Given the description of an element on the screen output the (x, y) to click on. 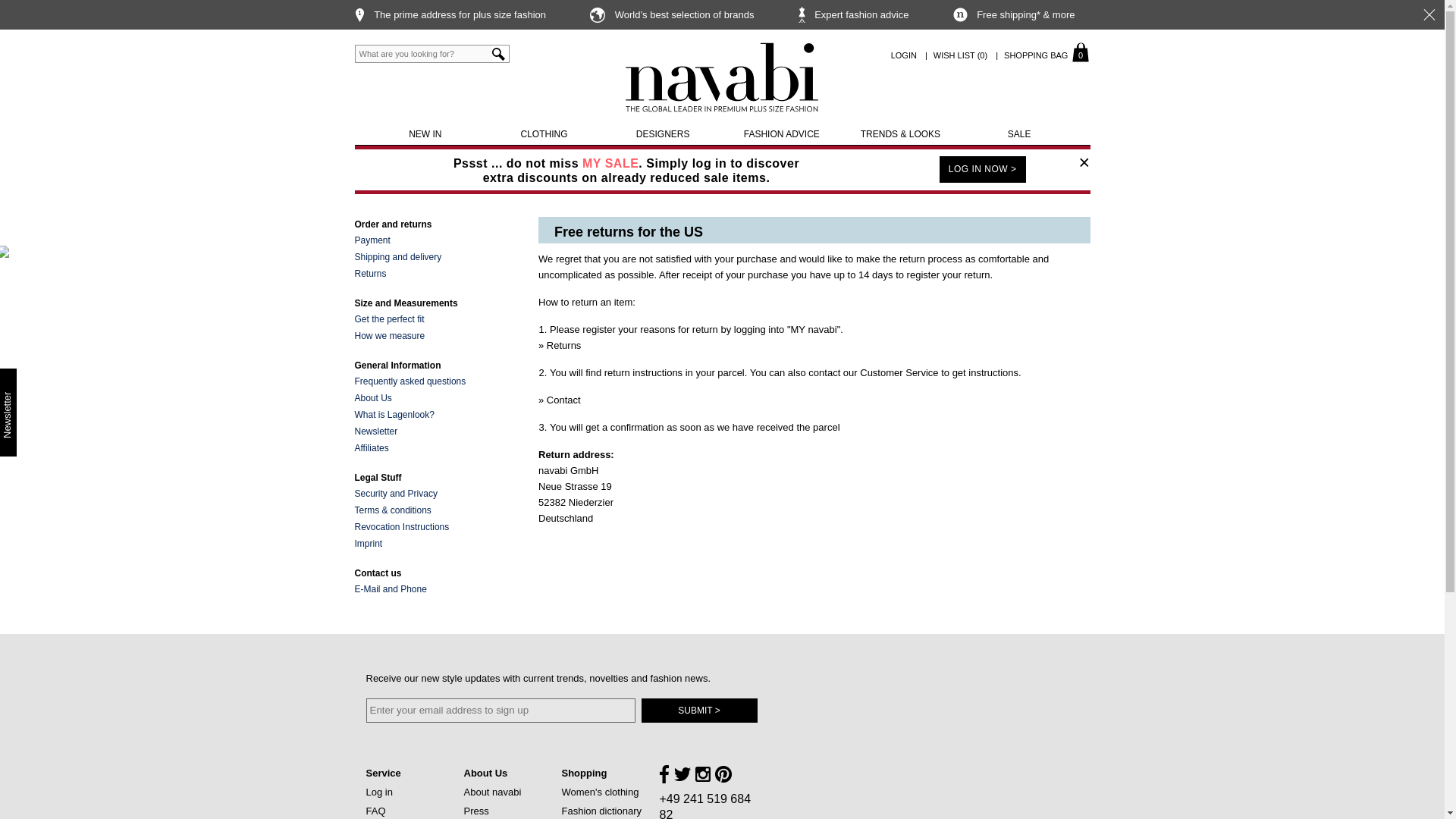
LOGIN (904, 54)
CLOTHING (1035, 54)
search product (544, 134)
NEW IN (423, 53)
